Given the description of an element on the screen output the (x, y) to click on. 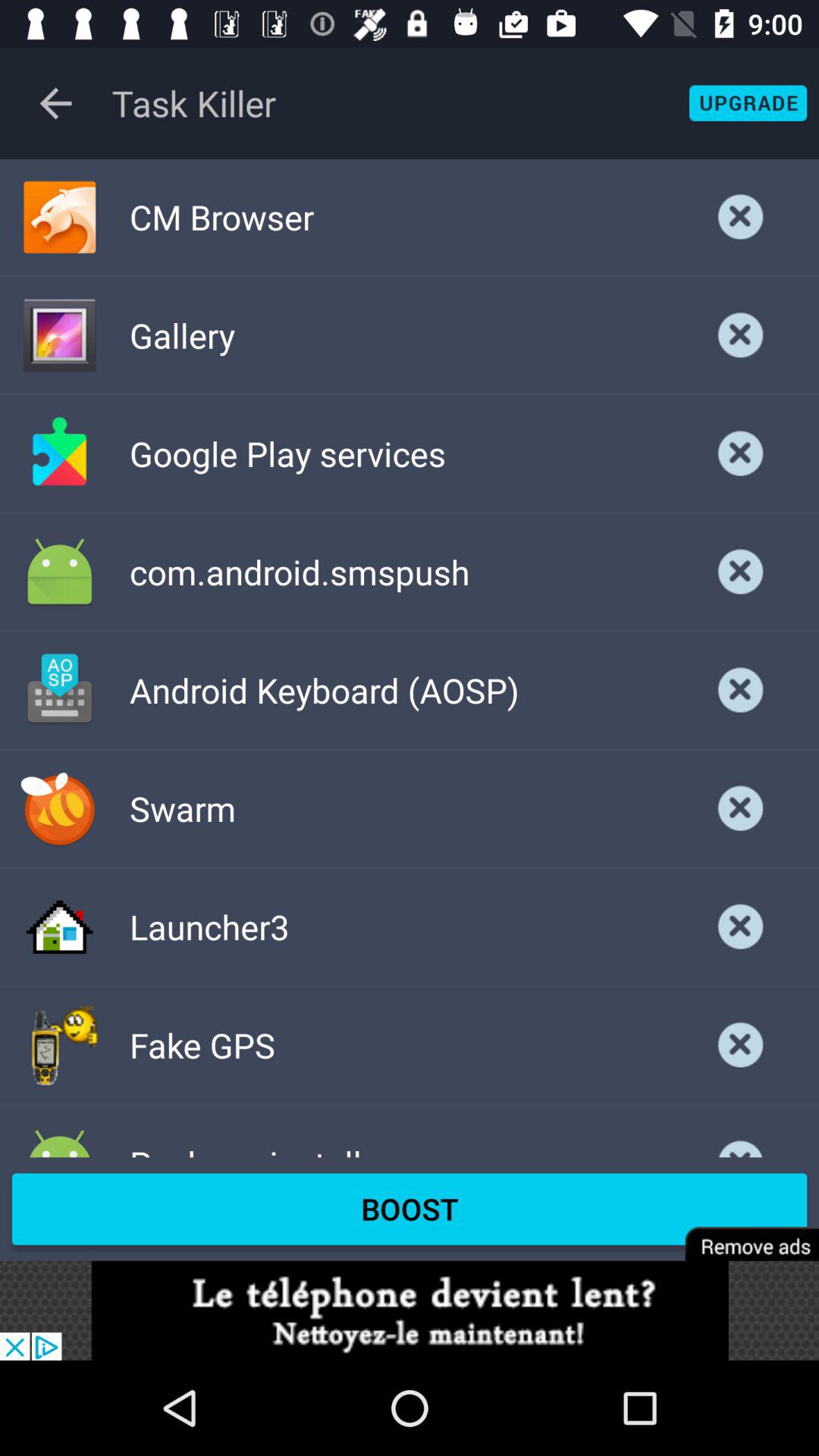
close page (740, 1045)
